Given the description of an element on the screen output the (x, y) to click on. 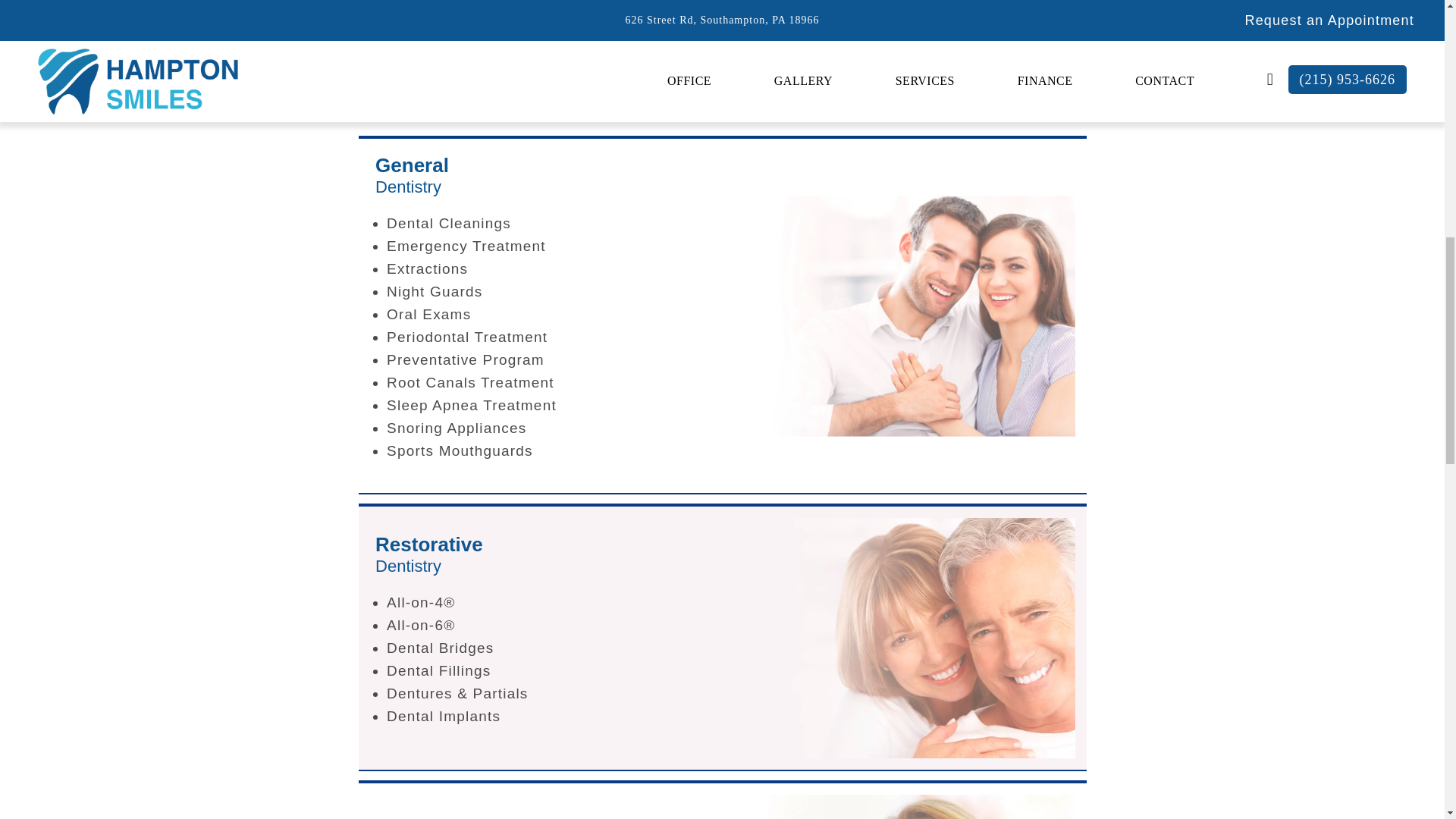
Root Canals Treatment (563, 382)
Dental Implants (563, 716)
Dental Fillings (563, 671)
Sports Mouthguards (563, 450)
Call (713, 85)
Preventative Program (563, 359)
Sleep Apnea Treatment (563, 404)
Dental Bridges (429, 555)
Oral Exams (563, 648)
